Given the description of an element on the screen output the (x, y) to click on. 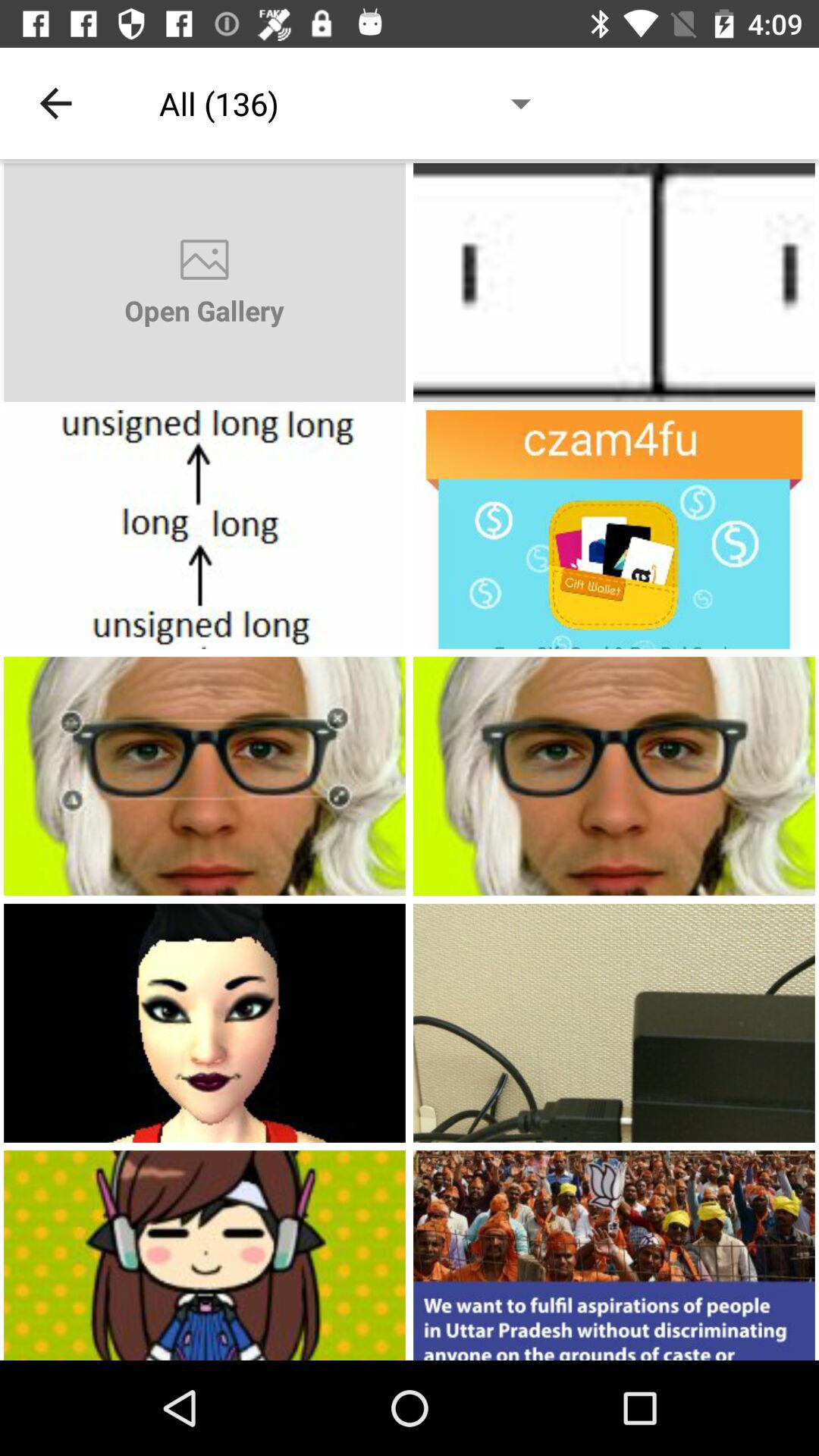
advertisement image (204, 775)
